Given the description of an element on the screen output the (x, y) to click on. 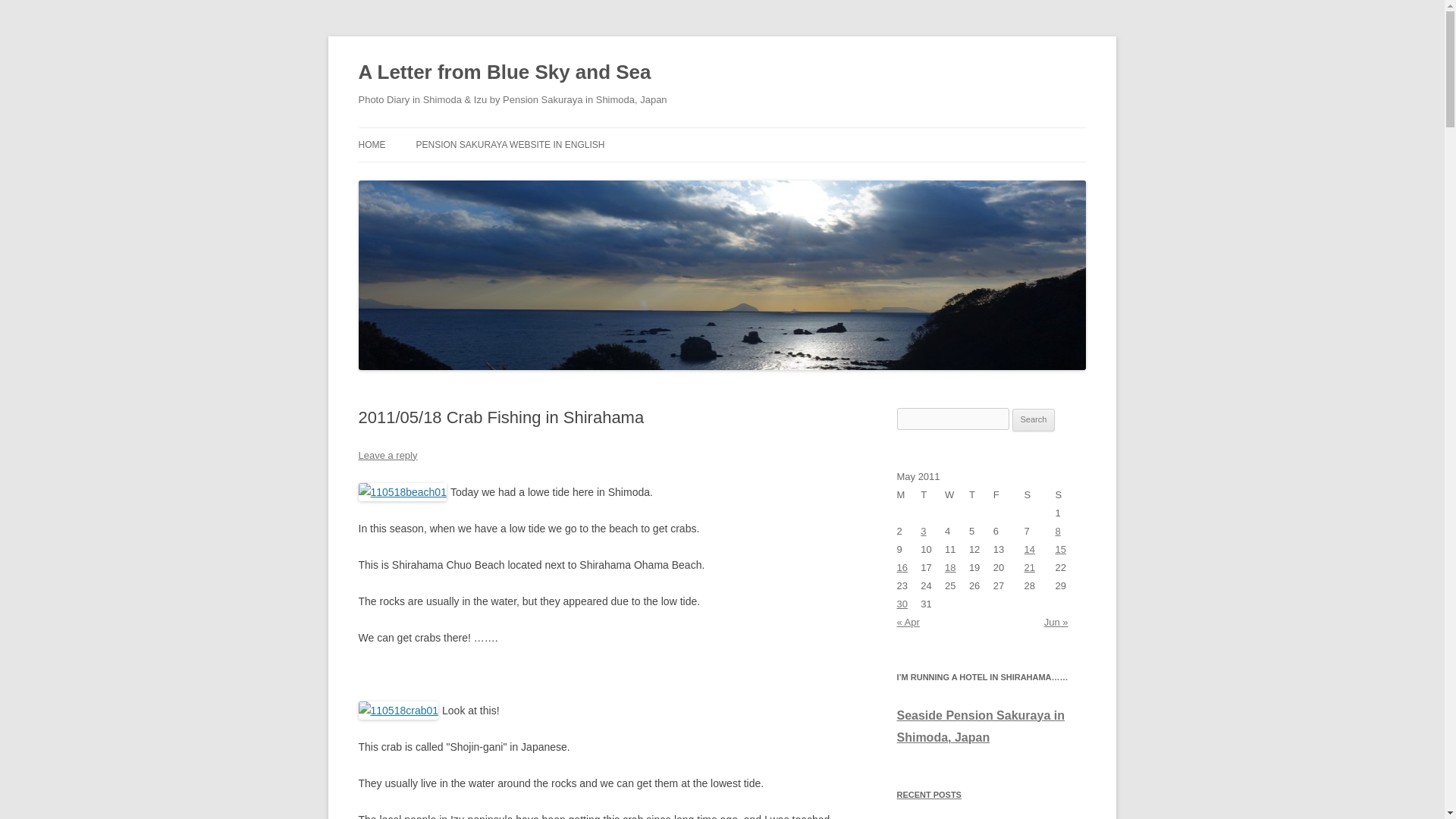
Seaside Pension Sakuraya in Shimoda, Japan (980, 727)
110518crab01 (398, 710)
Tuesday (932, 495)
A Letter from Blue Sky and Sea (504, 72)
Search (1033, 419)
Friday (1008, 495)
Monday (908, 495)
RECENT POSTS (991, 794)
14 (1030, 549)
